Given the description of an element on the screen output the (x, y) to click on. 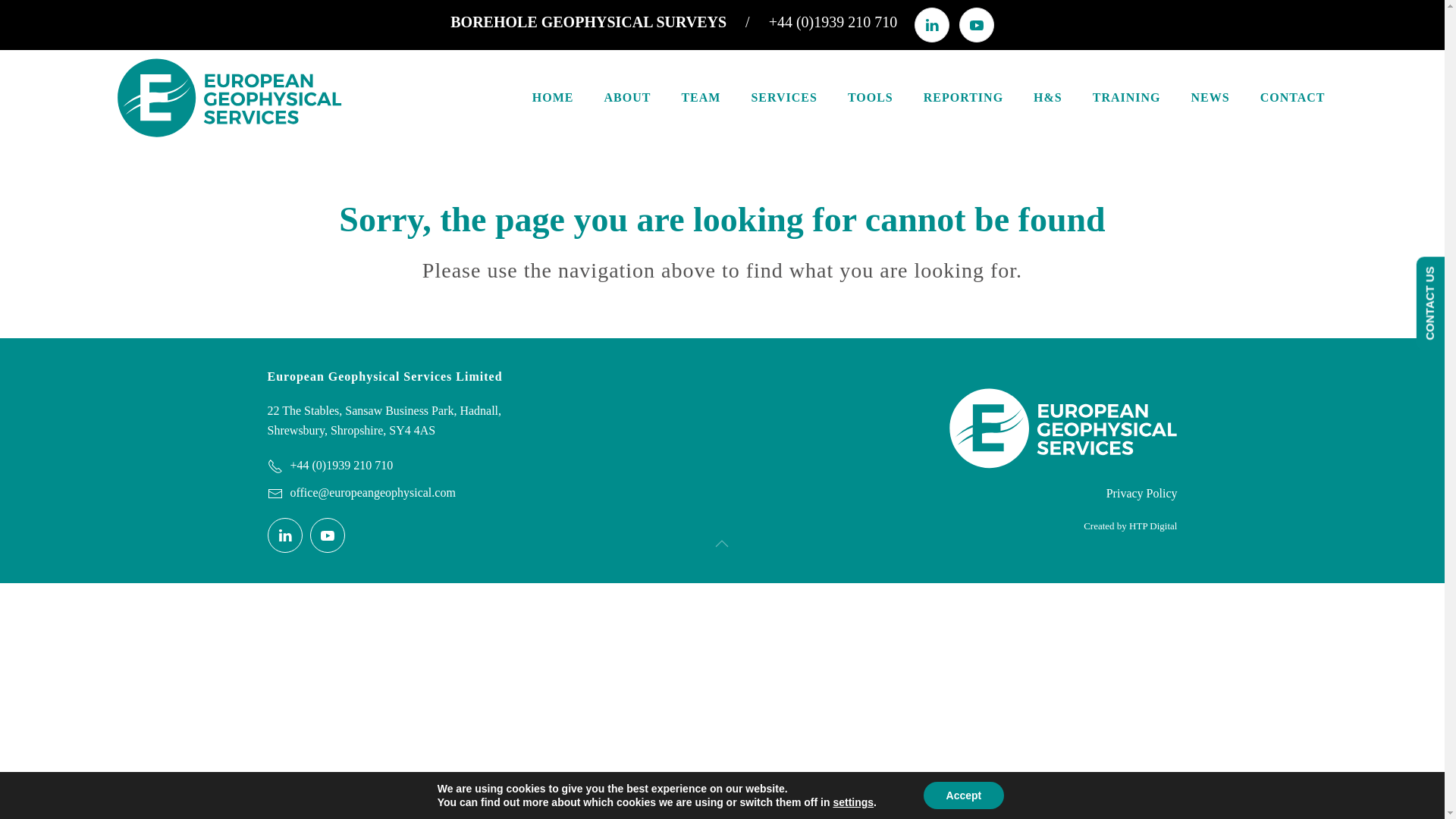
CONTACT (1292, 97)
Privacy Policy (1034, 493)
Created by HTP Digital (1034, 525)
European Geophysical Services Limited (408, 376)
SERVICES (783, 97)
TRAINING (1126, 97)
REPORTING (963, 97)
